Given the description of an element on the screen output the (x, y) to click on. 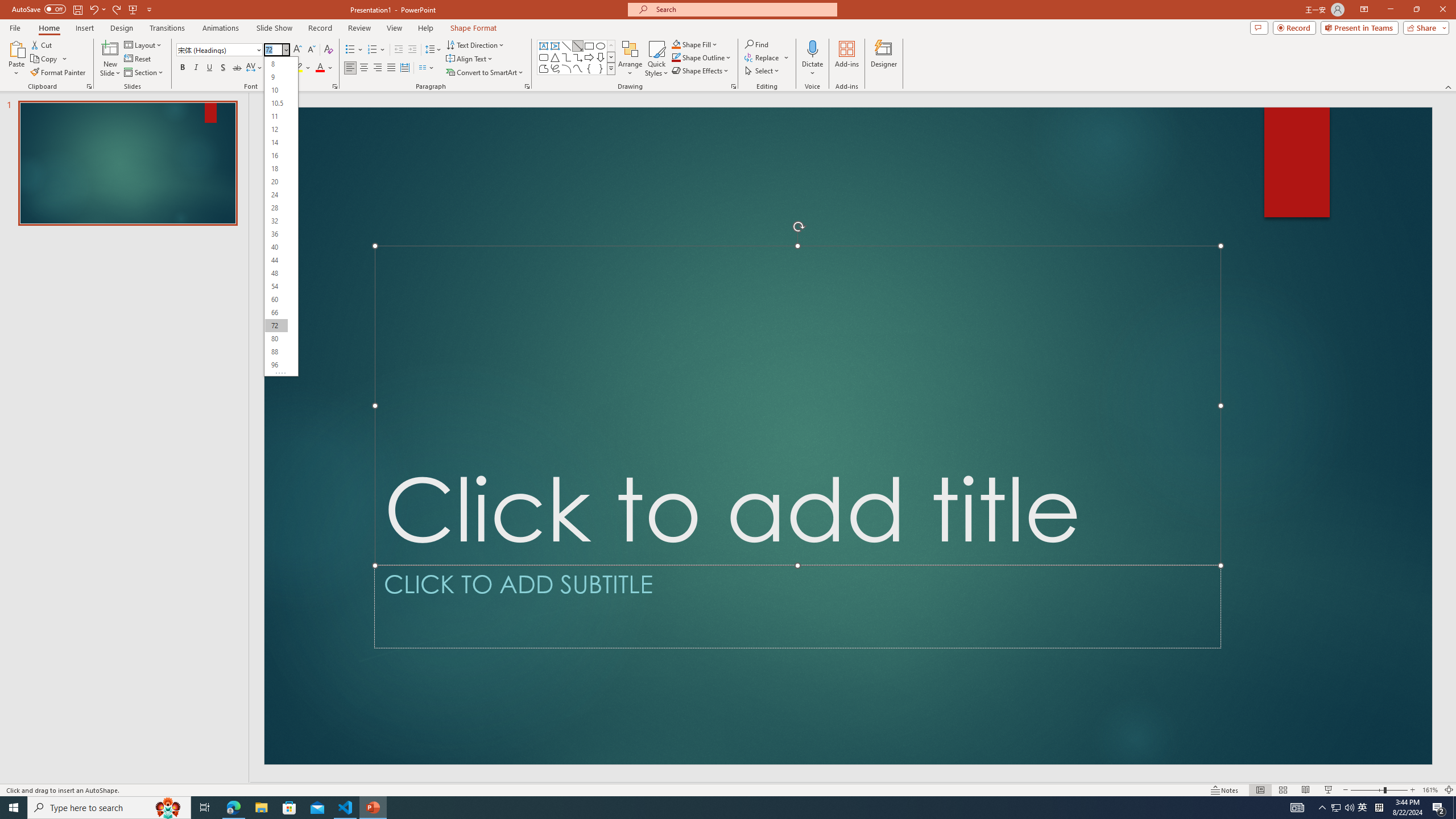
8 (276, 63)
18 (276, 168)
